Given the description of an element on the screen output the (x, y) to click on. 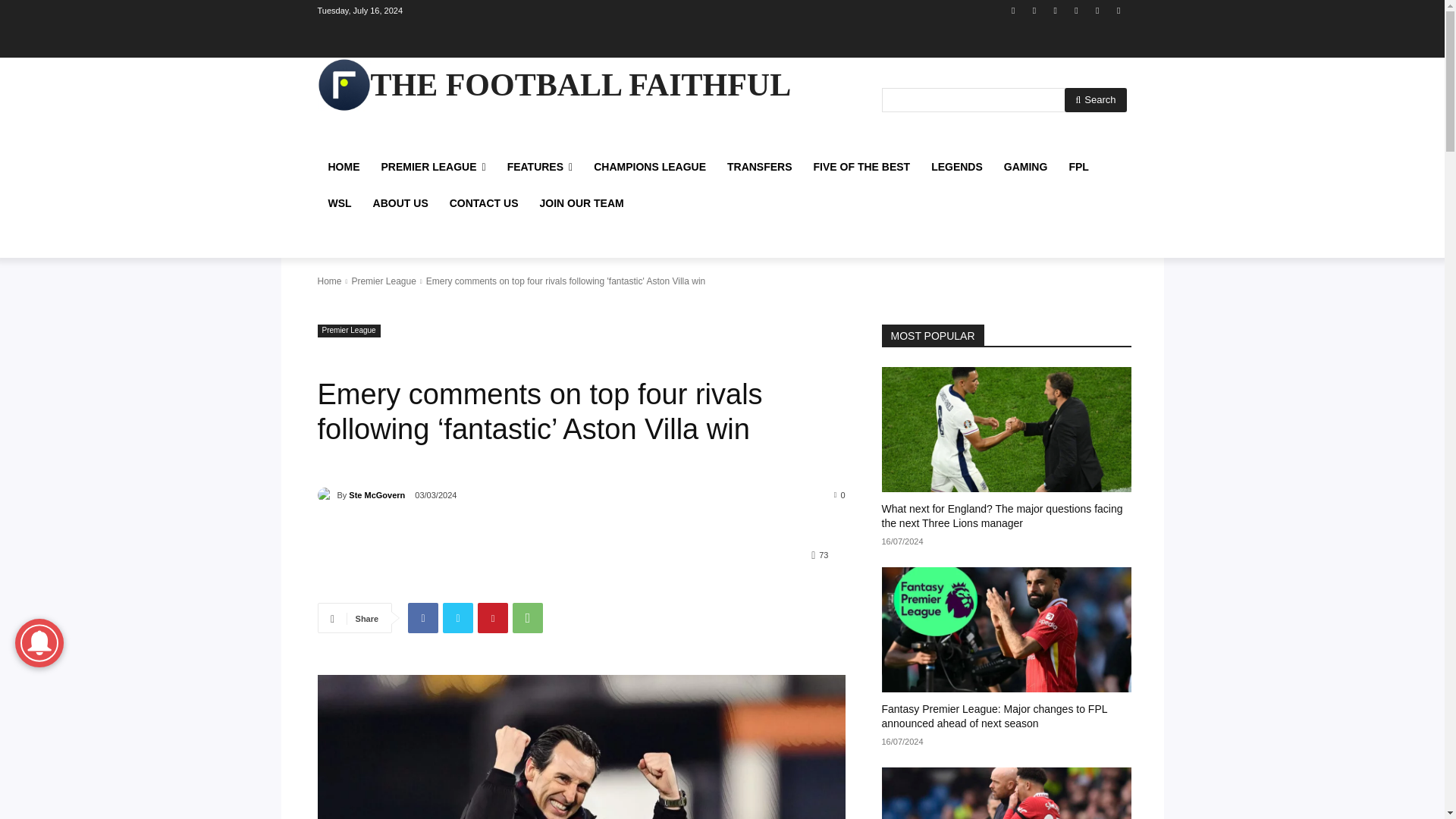
RSS (1055, 9)
TikTok (1075, 9)
Instagram (1034, 9)
Youtube (1117, 9)
Twitter (1097, 9)
Facebook (1013, 9)
View all posts in Premier League (382, 281)
